Given the description of an element on the screen output the (x, y) to click on. 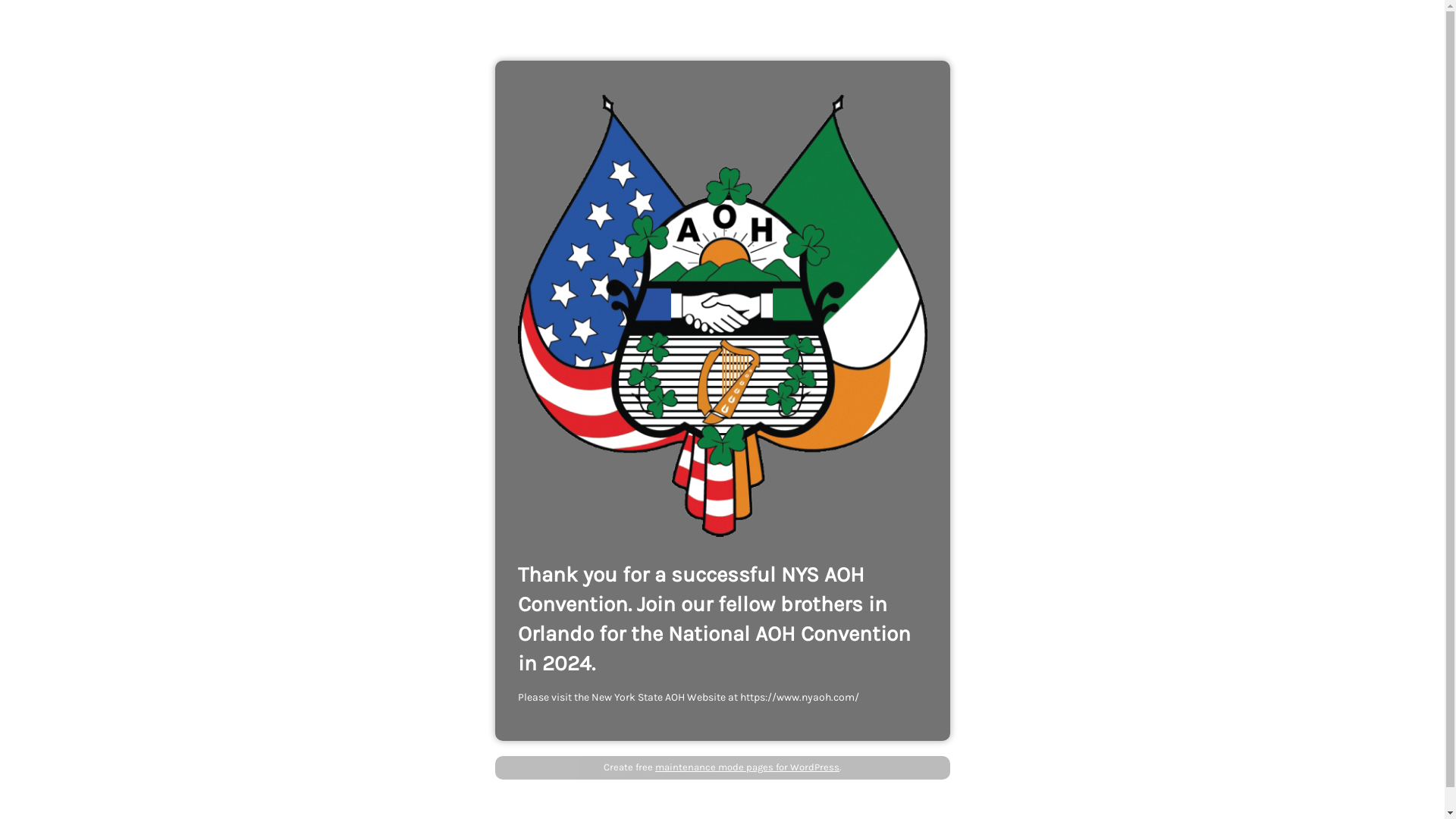
2023 New York State AOH Convention Element type: hover (721, 315)
maintenance mode pages for WordPress Element type: text (747, 766)
